Given the description of an element on the screen output the (x, y) to click on. 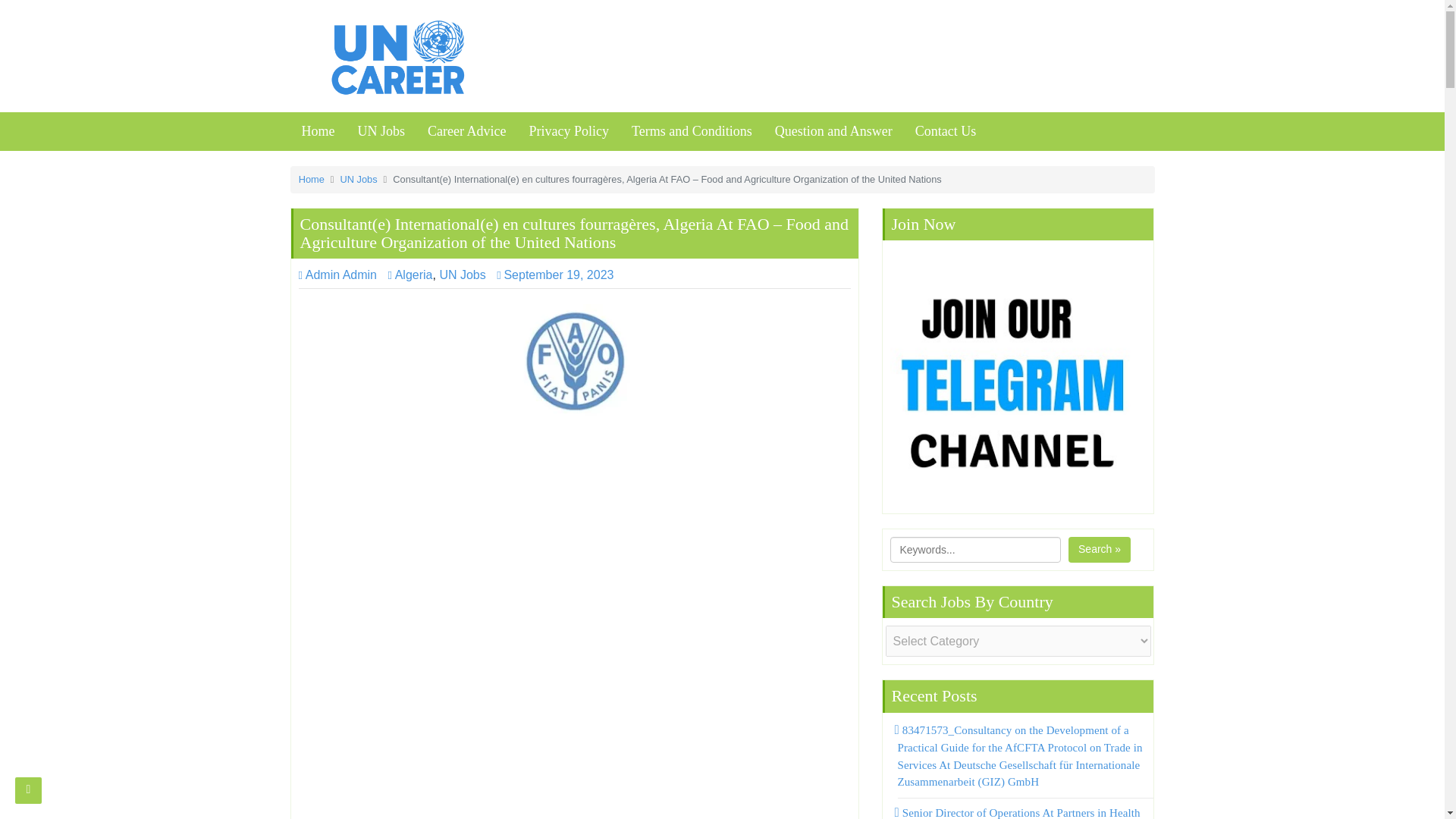
UN Jobs (461, 274)
Home (311, 179)
Terms and Conditions (691, 131)
Home (317, 131)
Senior Director of Operations At Partners in Health (1019, 812)
Advertisement (574, 742)
Question and Answer (833, 131)
Privacy Policy (568, 131)
UN Jobs (358, 179)
UN Jobs (381, 131)
